Given the description of an element on the screen output the (x, y) to click on. 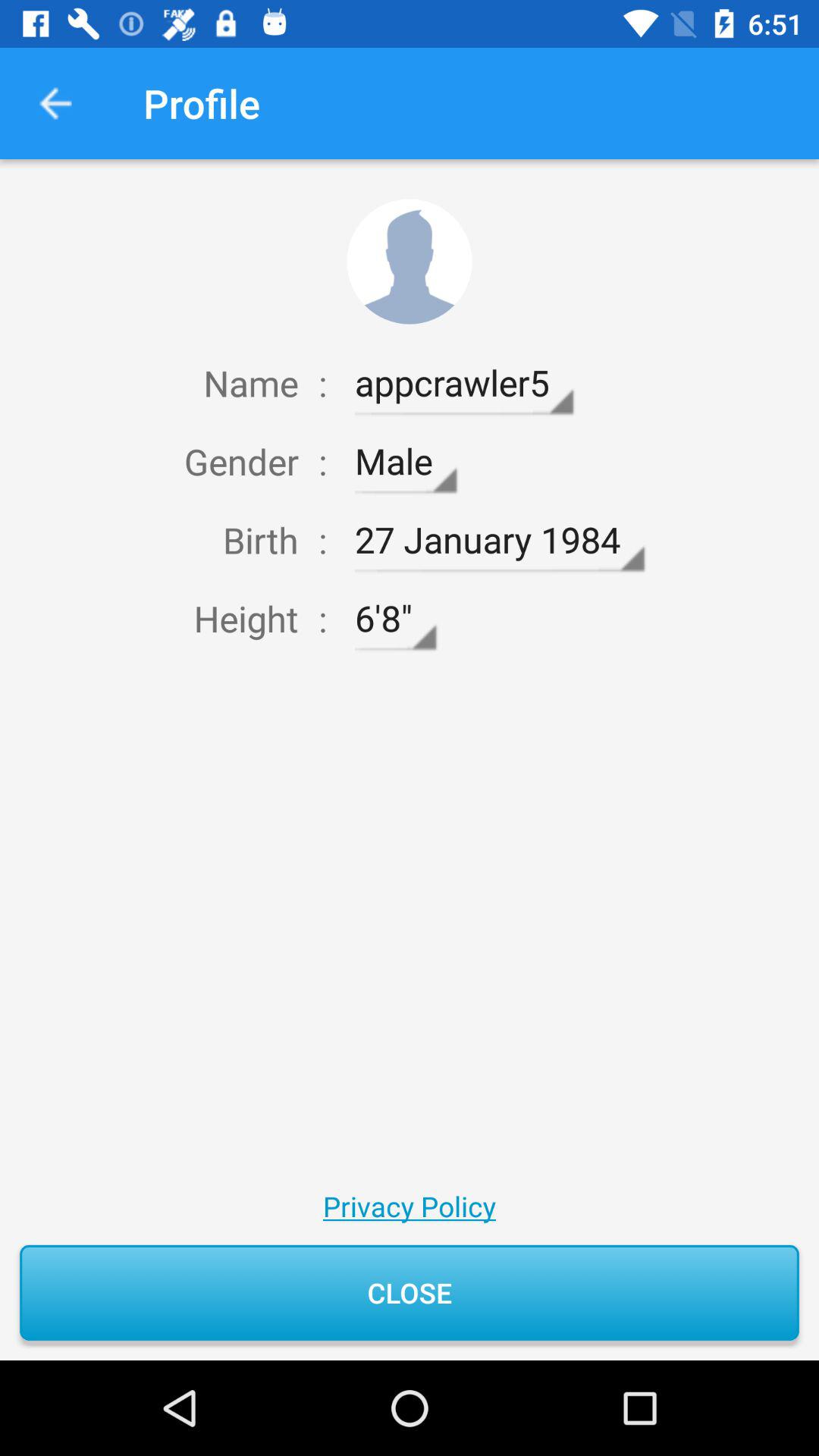
toggle profile picture (409, 261)
